Given the description of an element on the screen output the (x, y) to click on. 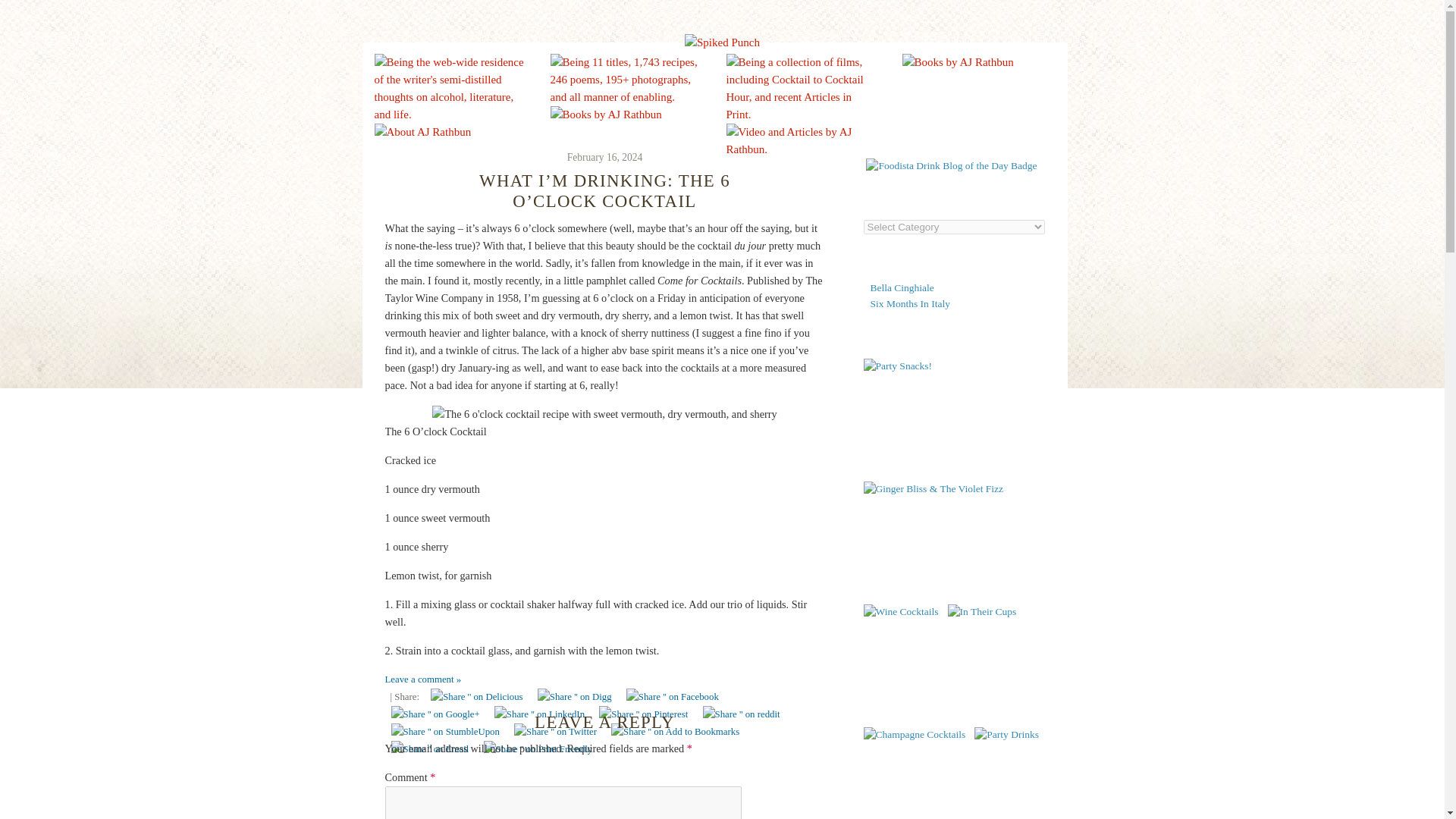
Share '' on Print Friendly (537, 749)
Foodista Drink Blog of the Day Badge (951, 165)
Share '' on Facebook (672, 696)
Share '' on Digg (574, 696)
Share '' on reddit (741, 714)
Share '' on Twitter (554, 732)
Bella Cinghiale (902, 287)
Share '' on StumbleUpon (445, 732)
Share '' on Delicious (476, 696)
Share '' on Add to Bookmarks (675, 732)
